Given the description of an element on the screen output the (x, y) to click on. 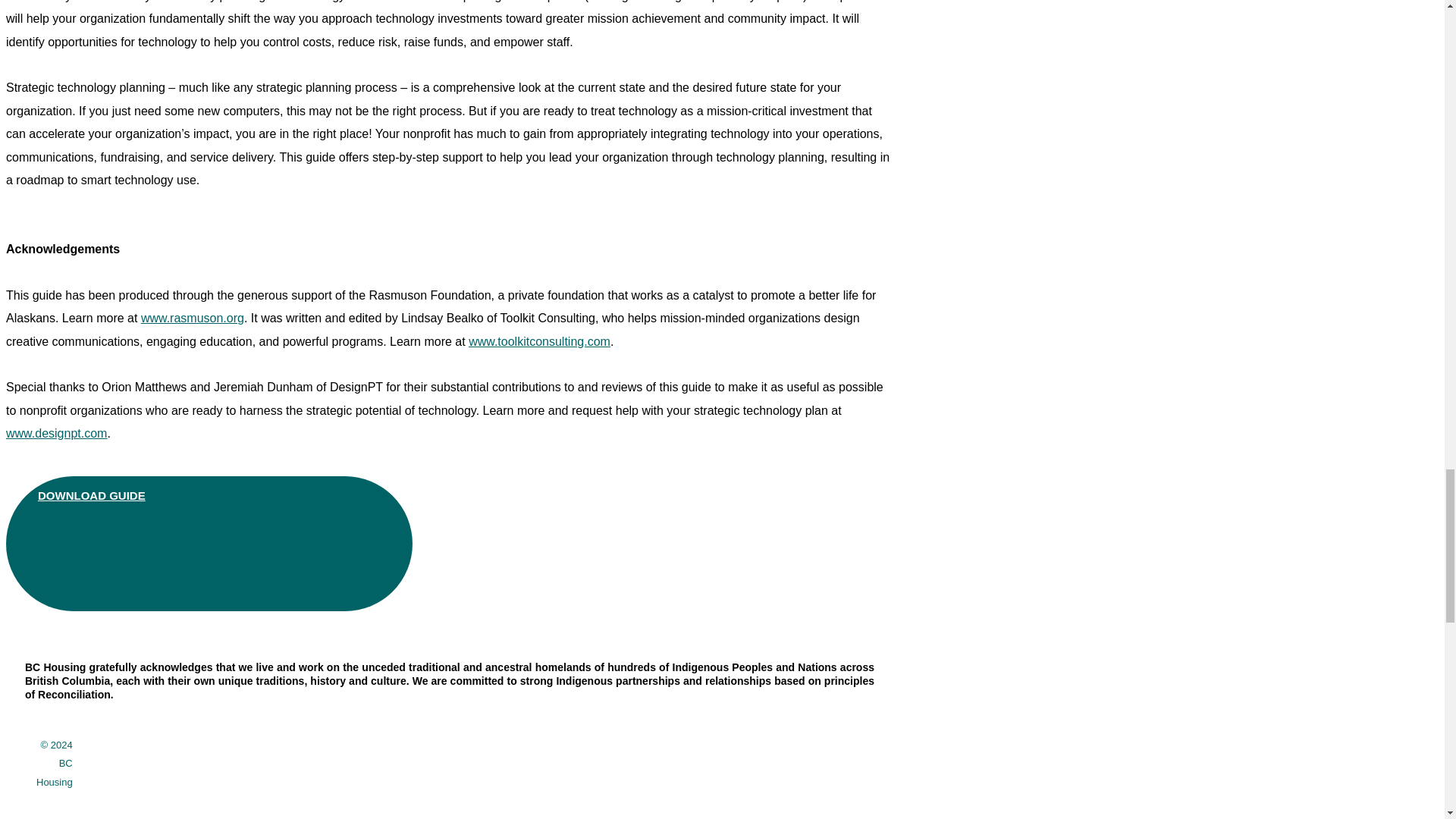
www.rasmuson.org (192, 318)
www.designpt.com (55, 432)
www.toolkitconsulting.com (539, 341)
DOWNLOAD GUIDE (208, 542)
